Given the description of an element on the screen output the (x, y) to click on. 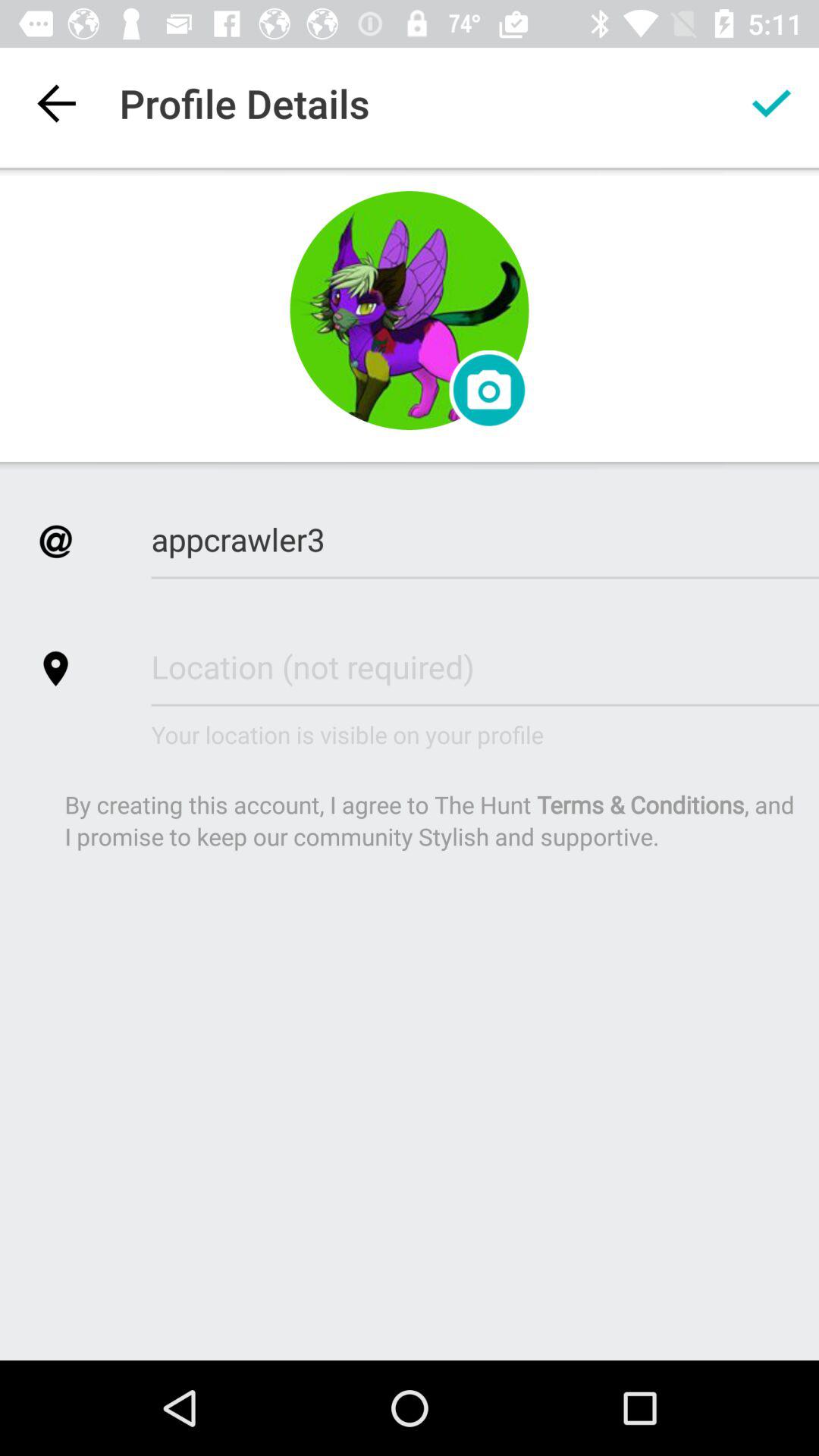
scroll until appcrawler3 icon (485, 538)
